Given the description of an element on the screen output the (x, y) to click on. 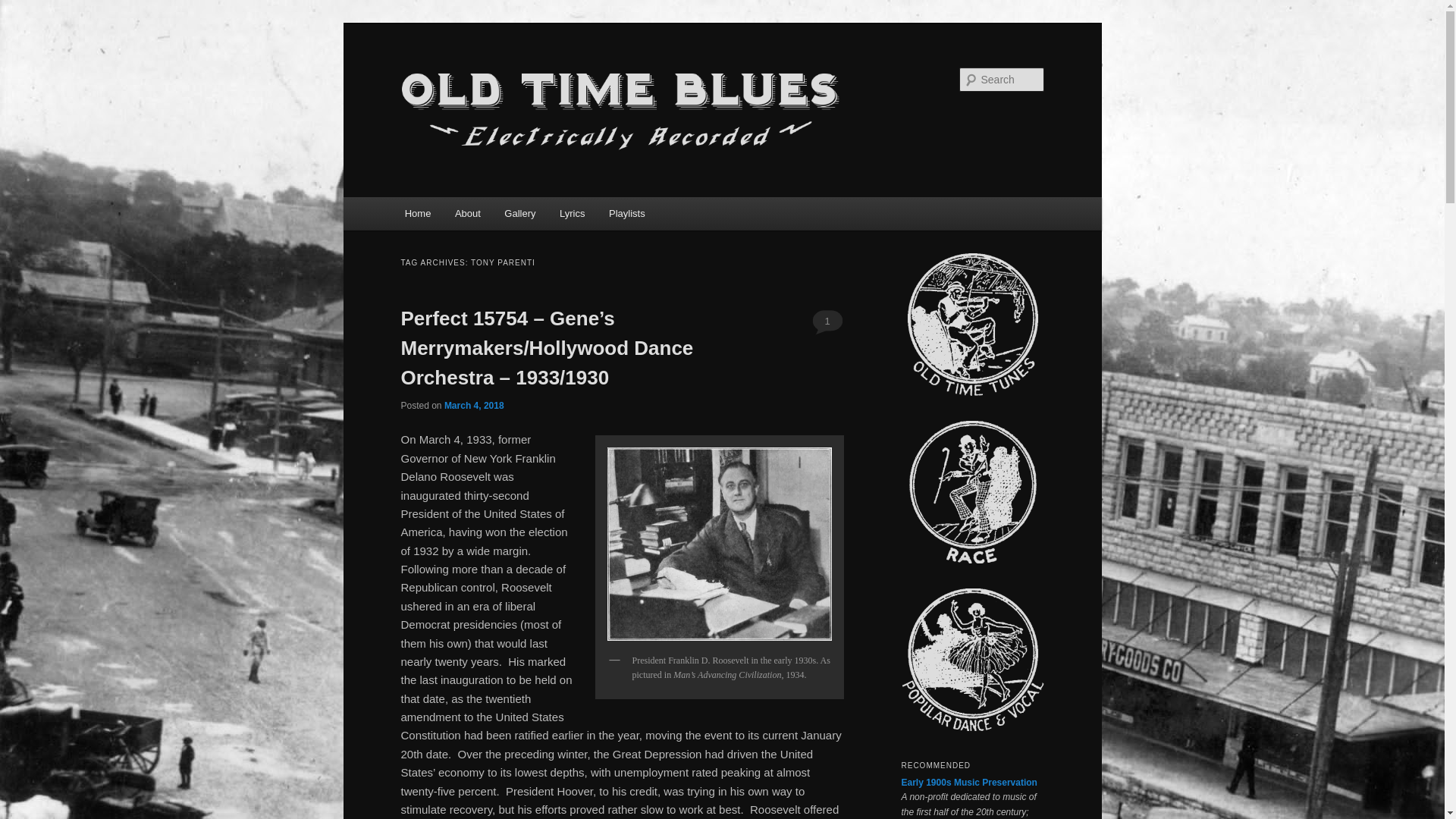
About (467, 213)
Playlists (626, 213)
2:20 pm (473, 405)
Lyrics (571, 213)
Search (24, 8)
Gallery (520, 213)
Home (417, 213)
